Given the description of an element on the screen output the (x, y) to click on. 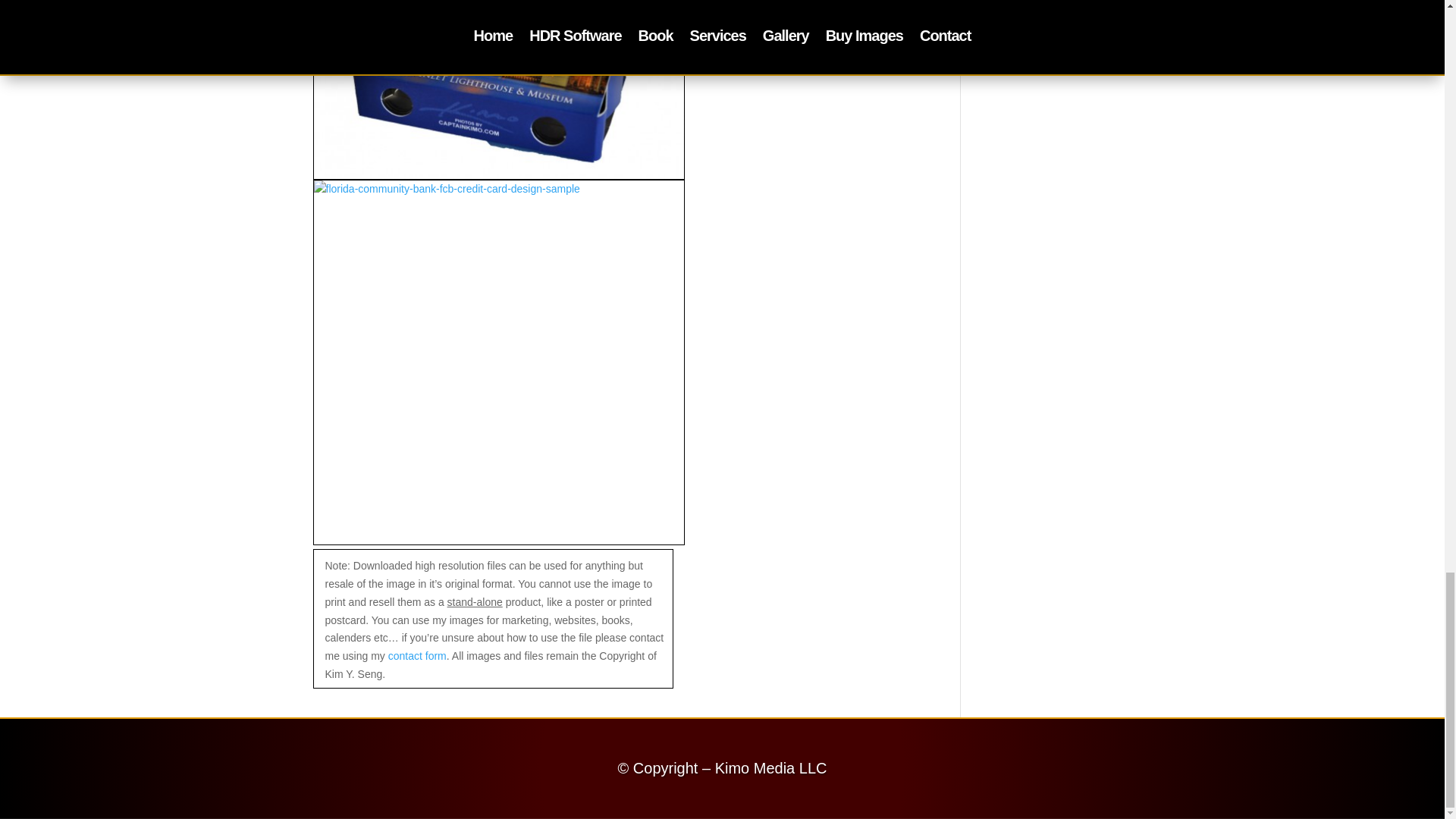
contact form (417, 655)
fanoculars-of-the-jupiter-lighthouse-full-moon (498, 90)
